Given the description of an element on the screen output the (x, y) to click on. 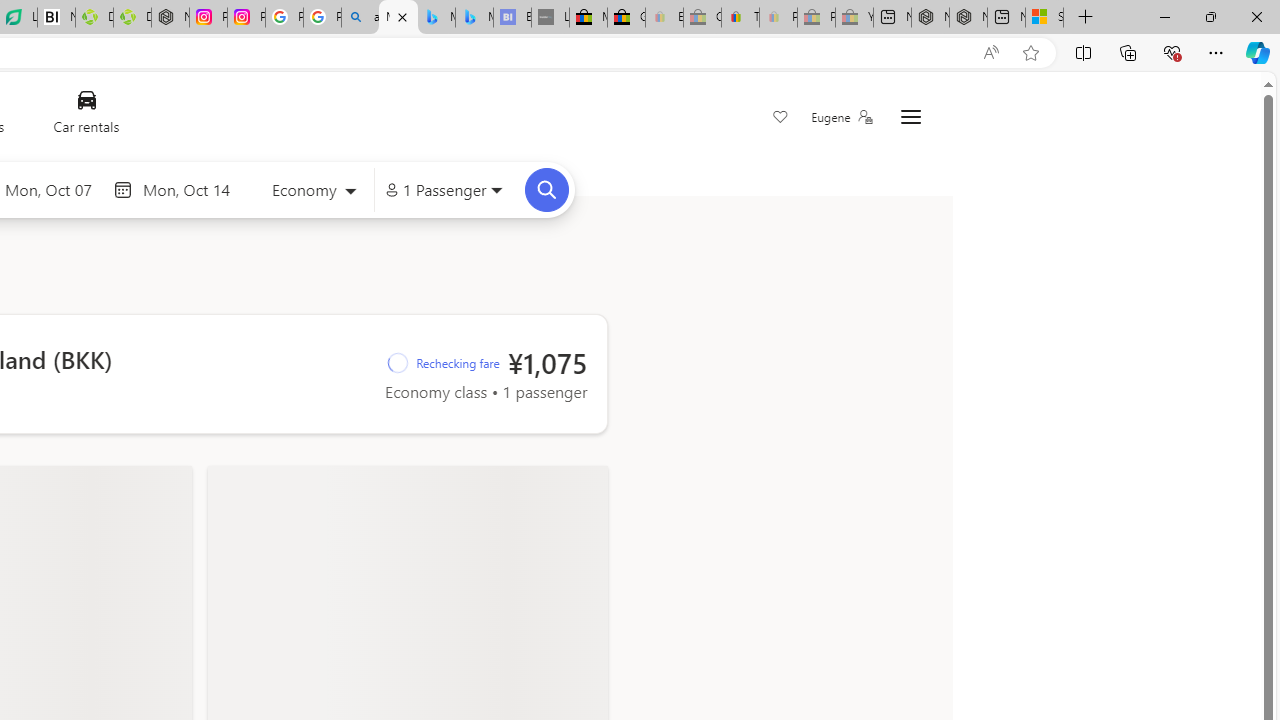
Sign in to your Microsoft account (1044, 17)
Descarga Driver Updater (132, 17)
Save (780, 118)
Nordace - Nordace Edin Collection (170, 17)
